Given the description of an element on the screen output the (x, y) to click on. 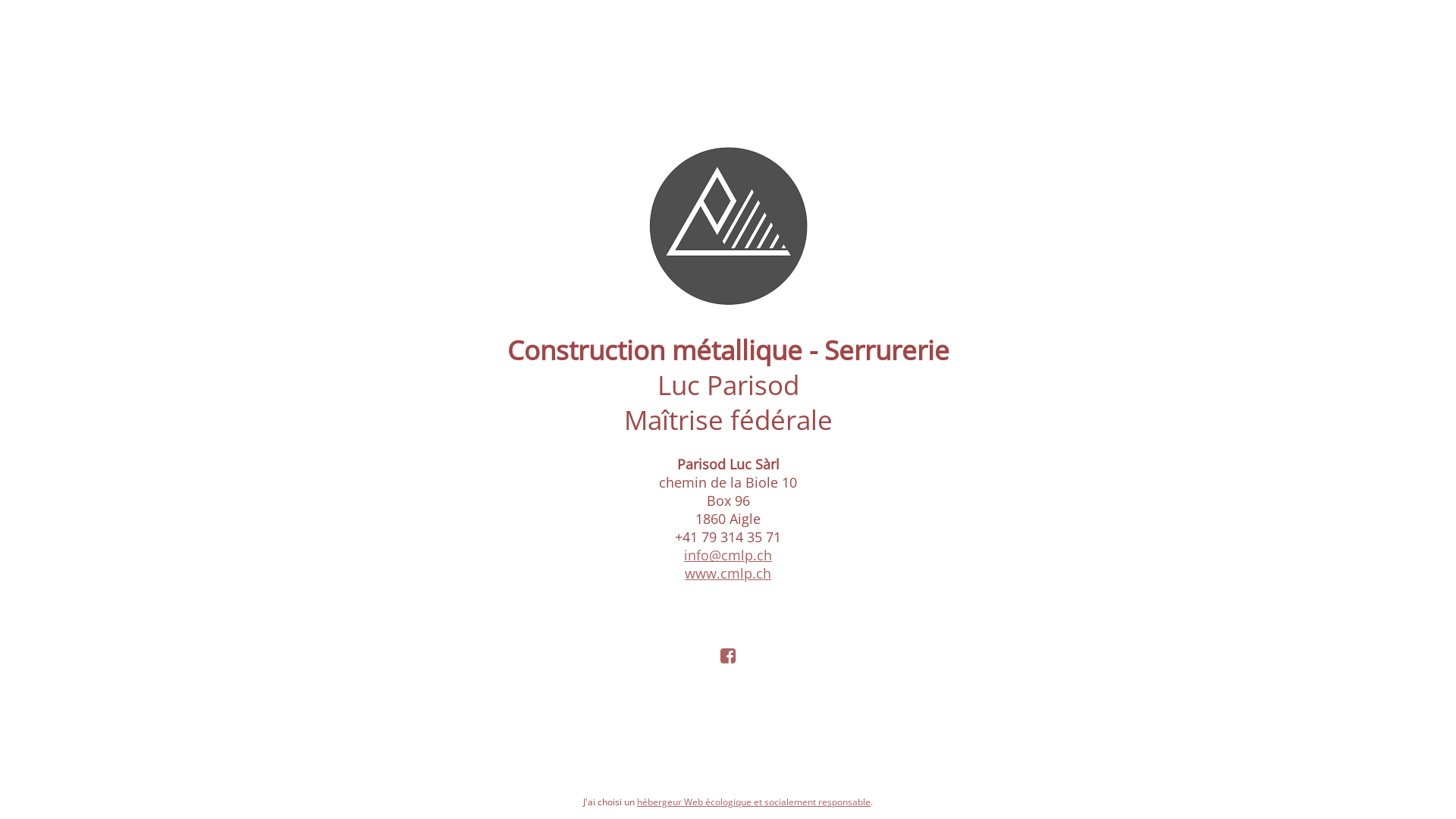
www.cmlp.ch Element type: text (727, 573)
info@cmlp.ch Element type: text (727, 555)
Facebook Element type: hover (728, 655)
